Given the description of an element on the screen output the (x, y) to click on. 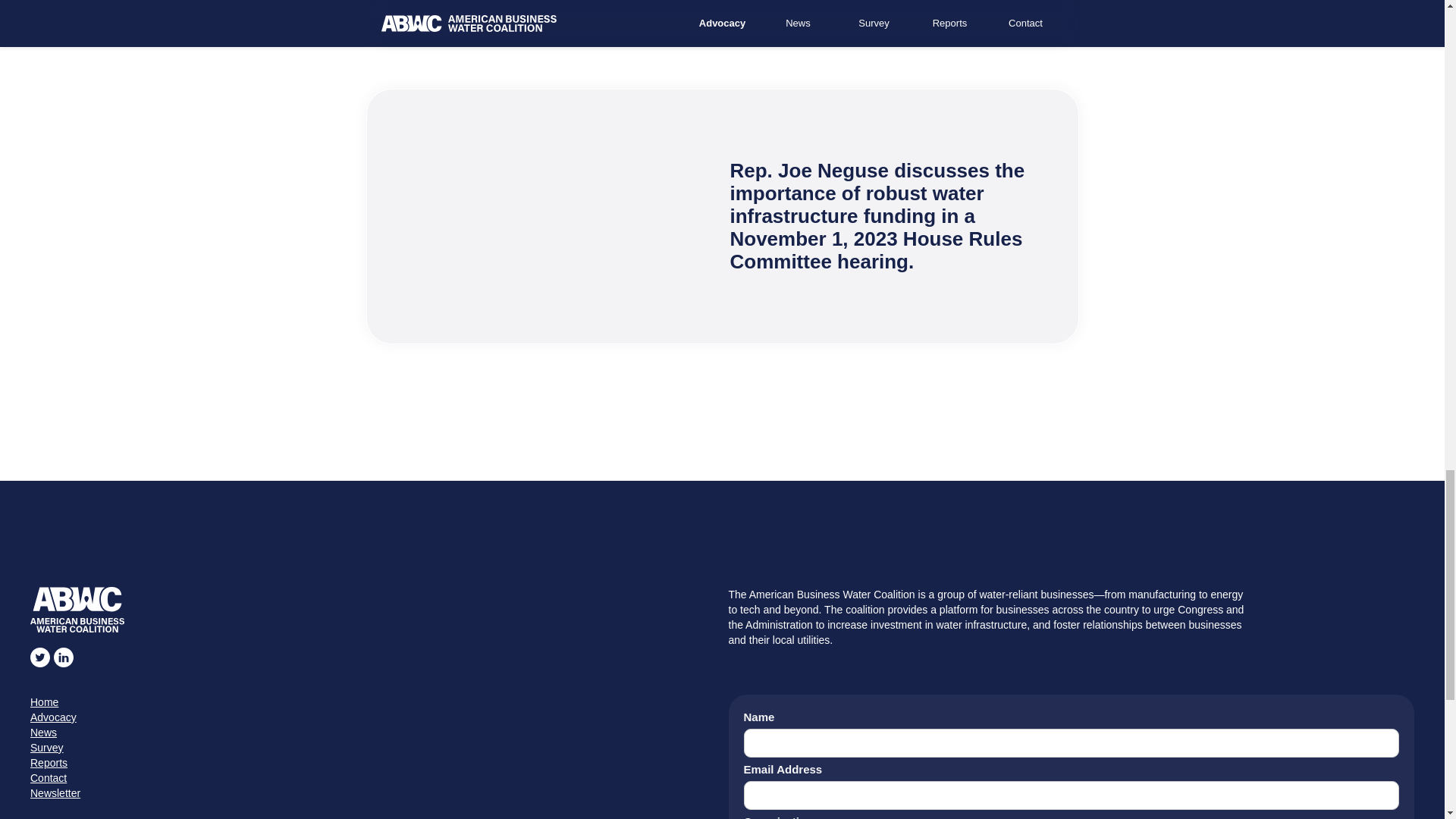
News (373, 732)
Reports (373, 762)
Home (373, 702)
Vimeo embed (563, 220)
Survey (373, 747)
Contact (373, 777)
Newsletter (373, 792)
Advocacy (373, 717)
